Given the description of an element on the screen output the (x, y) to click on. 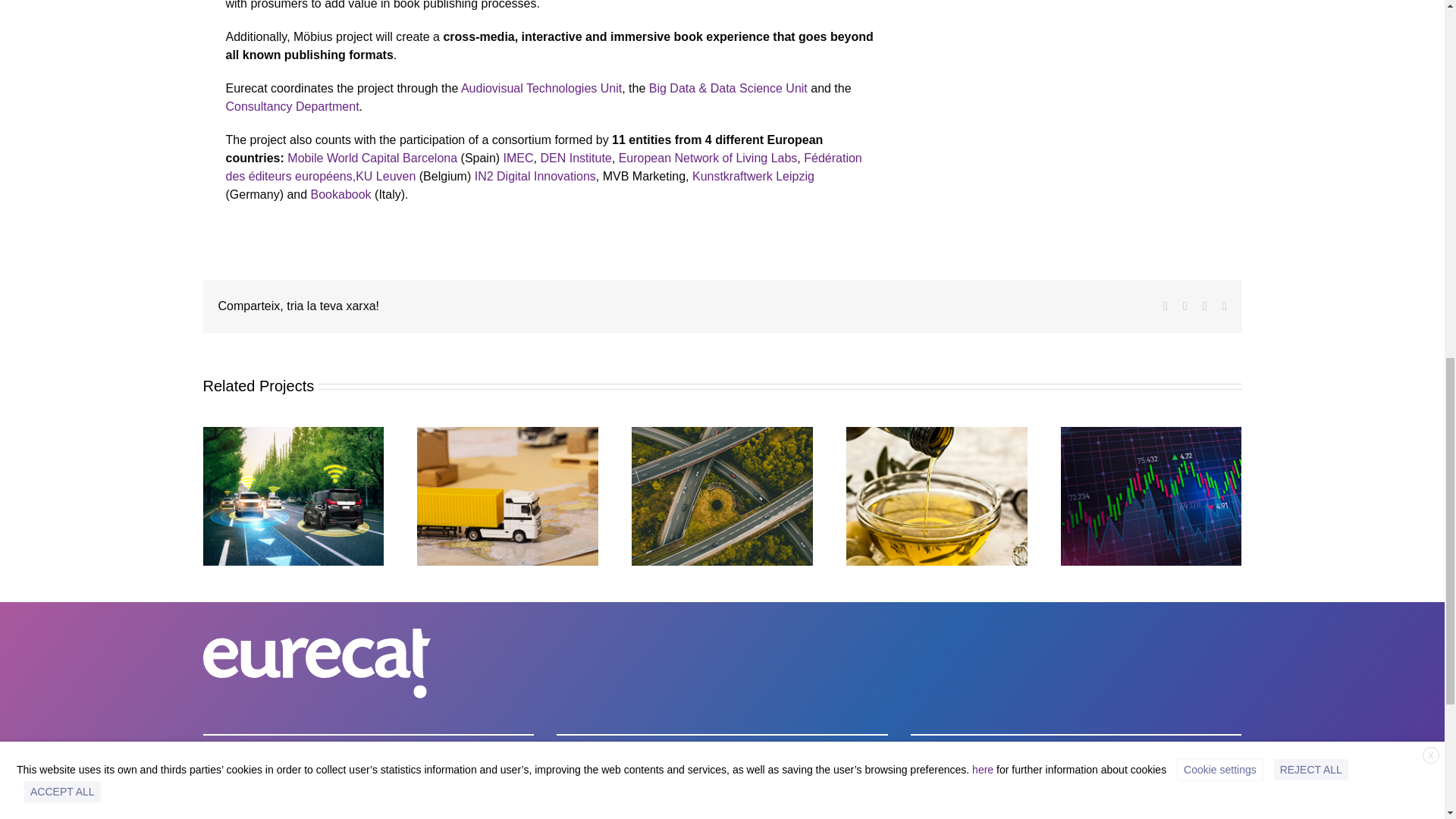
Untitled-1-1 (1066, 13)
